Given the description of an element on the screen output the (x, y) to click on. 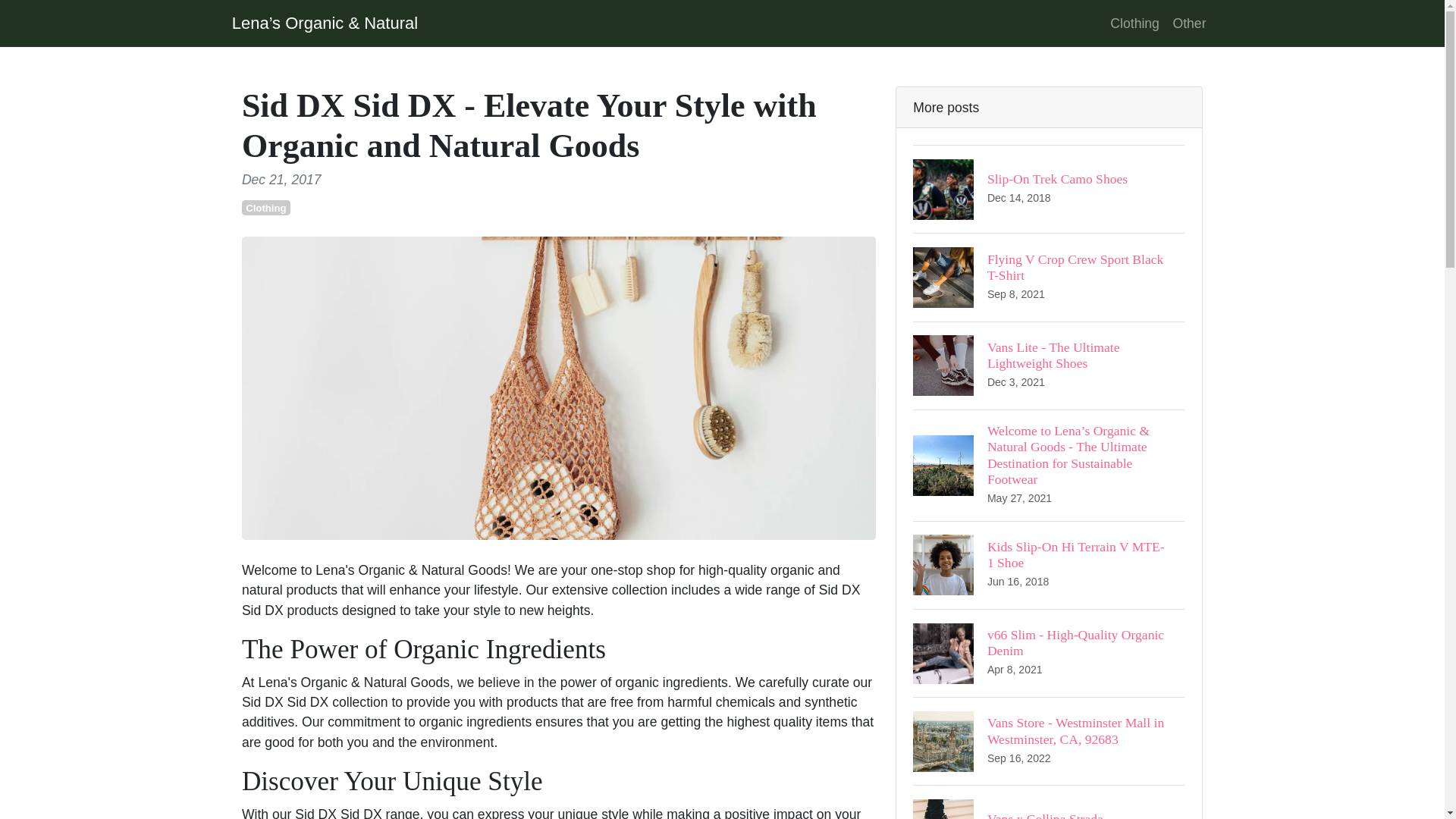
Clothing (1048, 365)
Other (1048, 276)
Clothing (1048, 564)
